Given the description of an element on the screen output the (x, y) to click on. 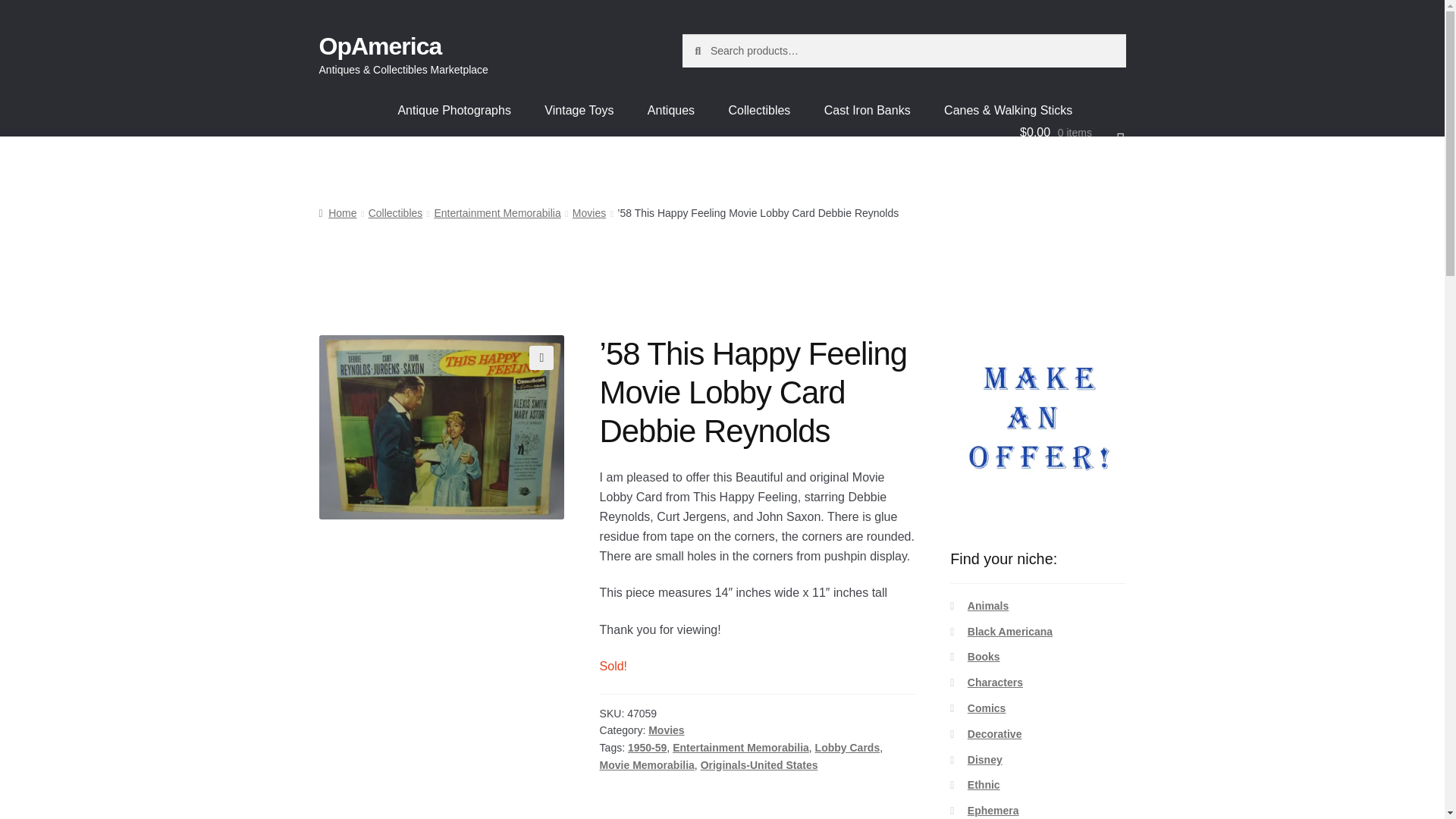
Entertainment Memorabilia (496, 213)
Make an Offer (1037, 422)
Cast Iron Banks (867, 110)
Movie Memorabilia (646, 765)
Entertainment Memorabilia (740, 747)
Movies (665, 729)
Home (337, 213)
Movies (588, 213)
Antiques (670, 110)
Originals-United States (759, 765)
Vintage Toys (578, 110)
Collectibles (395, 213)
Antique Photographs (453, 110)
Collectibles (759, 110)
